Given the description of an element on the screen output the (x, y) to click on. 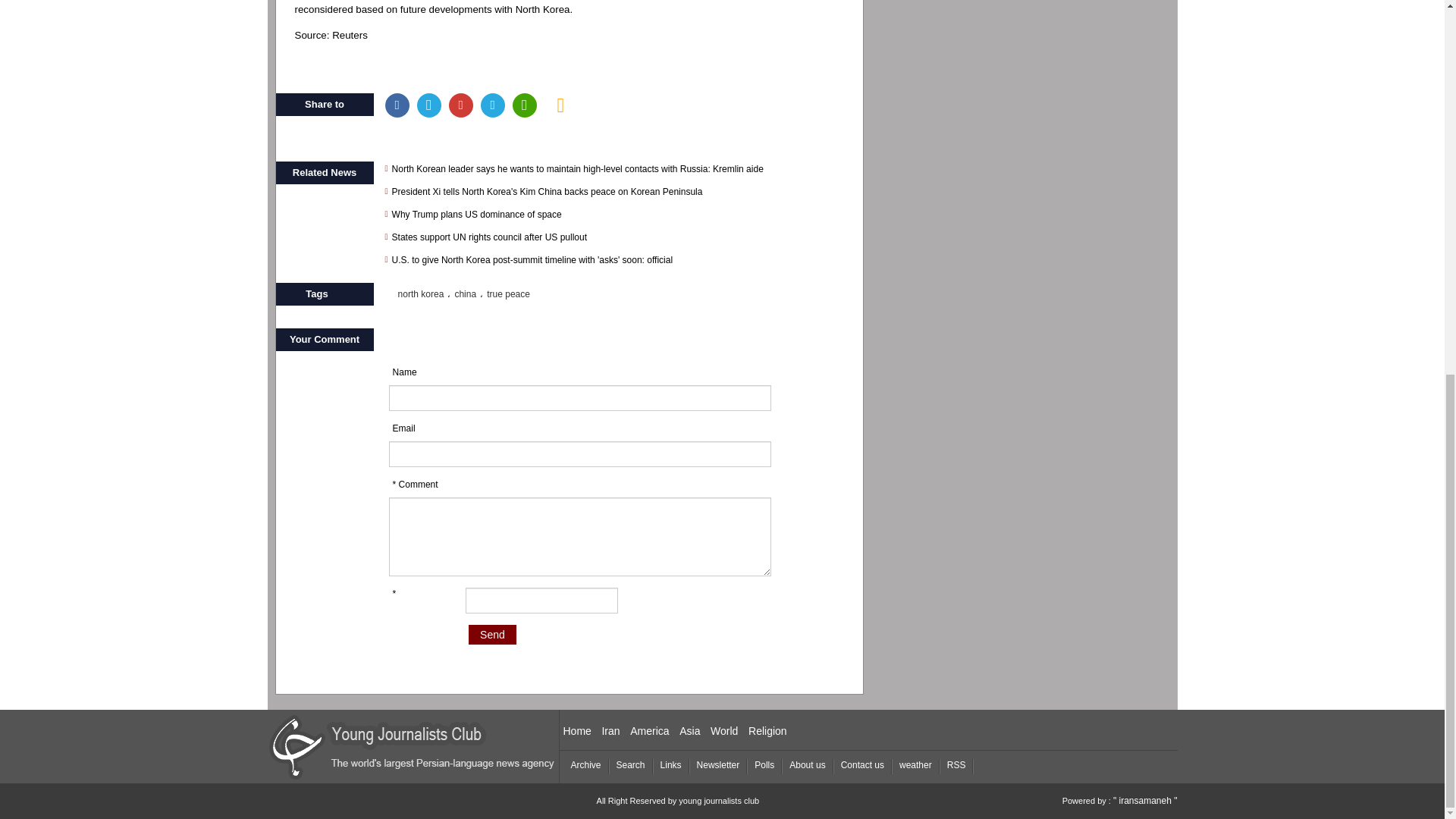
news error report (560, 105)
Why Trump plans US dominance of space (618, 214)
Send (492, 634)
States support UN rights council after US pullout (618, 237)
